Given the description of an element on the screen output the (x, y) to click on. 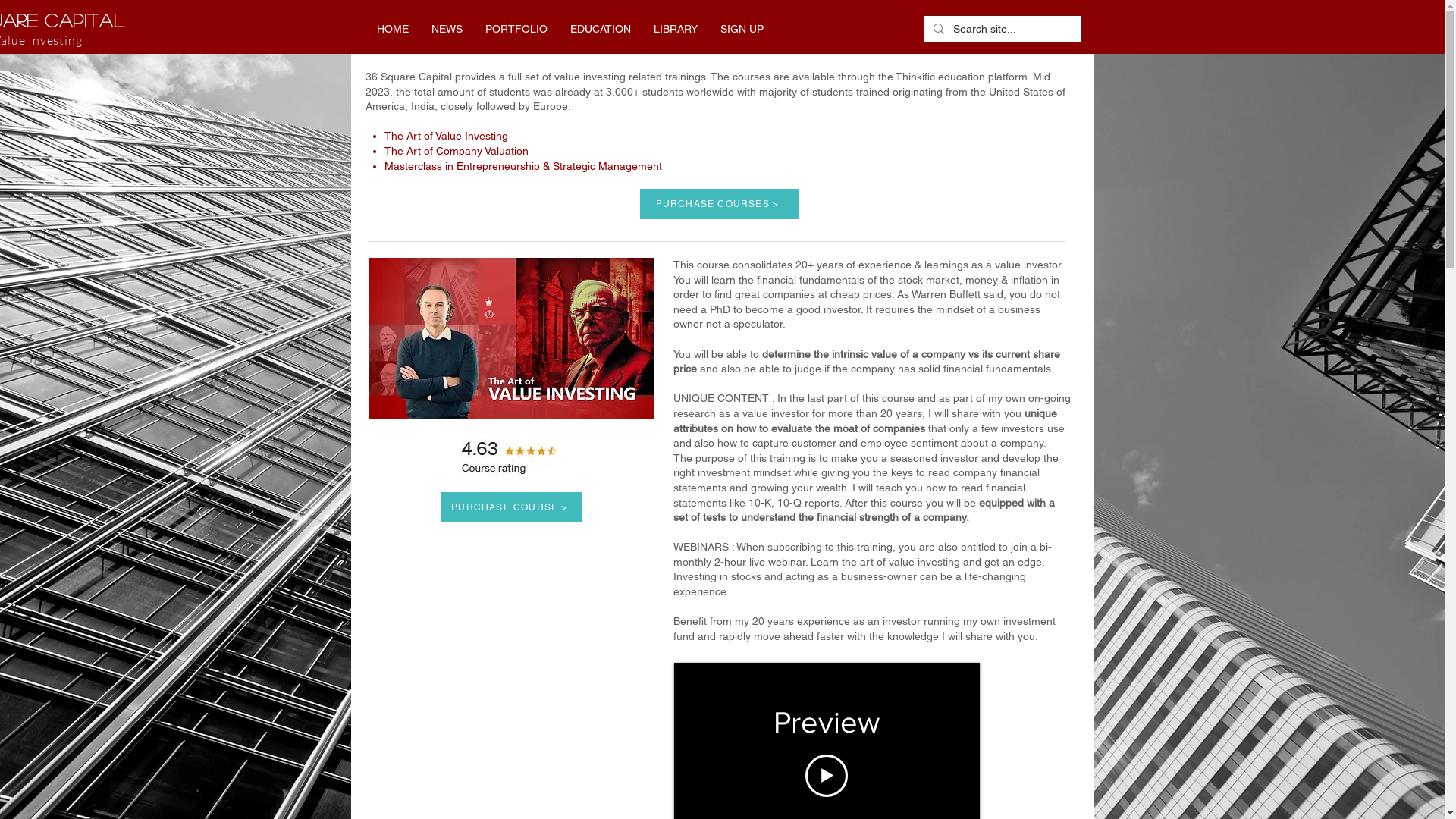
HOME Element type: text (392, 28)
NEWS Element type: text (446, 28)
Masterclass in Entrepreneurship & Strategic Management Element type: text (523, 166)
PORTFOLIO Element type: text (515, 28)
The Art of Value Investing Element type: text (446, 135)
SIGN UP Element type: text (741, 28)
PURCHASE COURSES > Element type: text (719, 203)
Thinkific Element type: text (914, 76)
The Art of Company Valuation Element type: text (456, 150)
PURCHASE COURSE > Element type: text (511, 507)
